Given the description of an element on the screen output the (x, y) to click on. 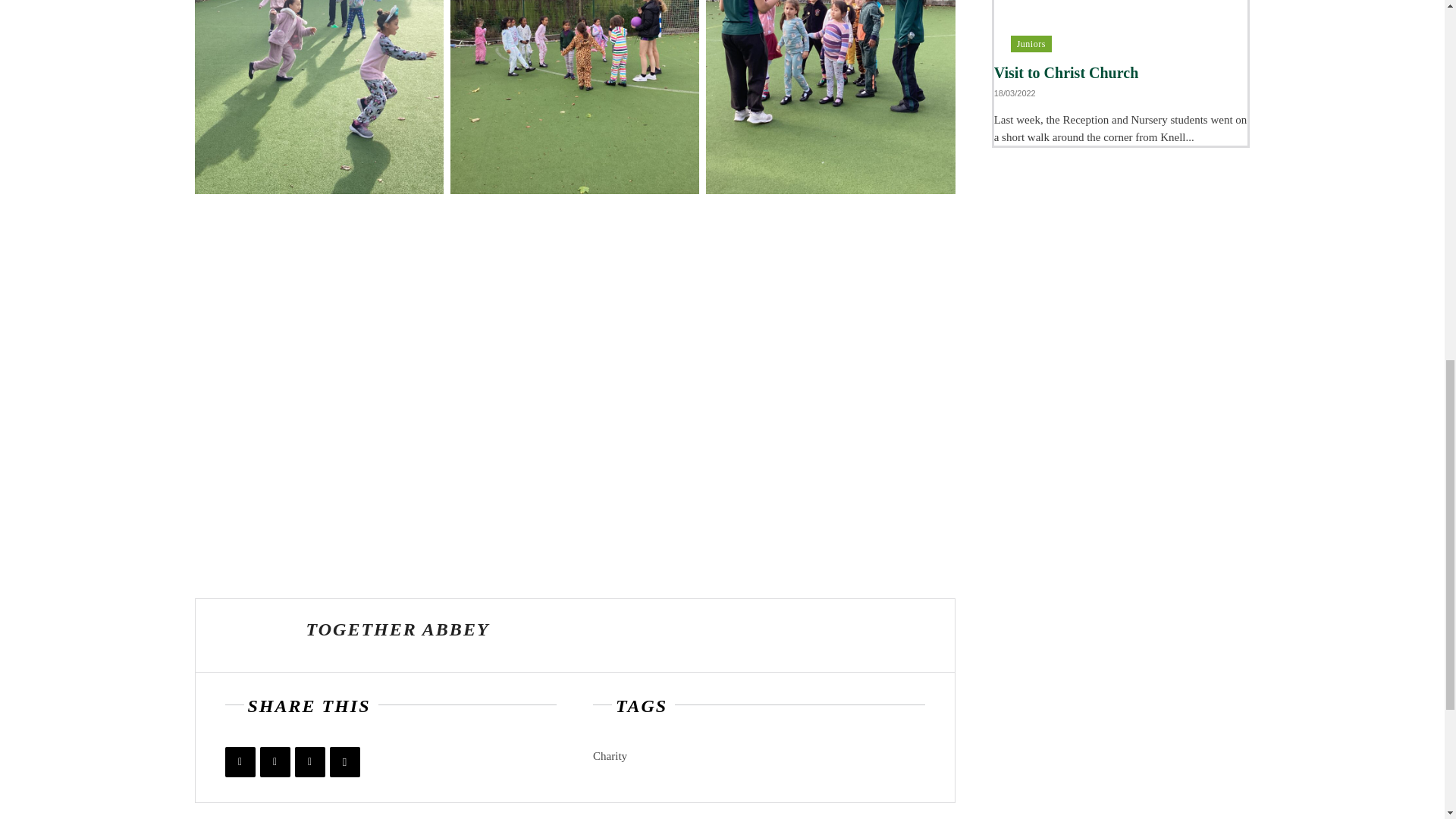
Linkedin (309, 761)
Twitter (274, 761)
Visit to Christ Church (1066, 72)
Facebook (239, 761)
Together Abbey (250, 635)
Visit to Christ Church (1120, 26)
Email (344, 761)
